Given the description of an element on the screen output the (x, y) to click on. 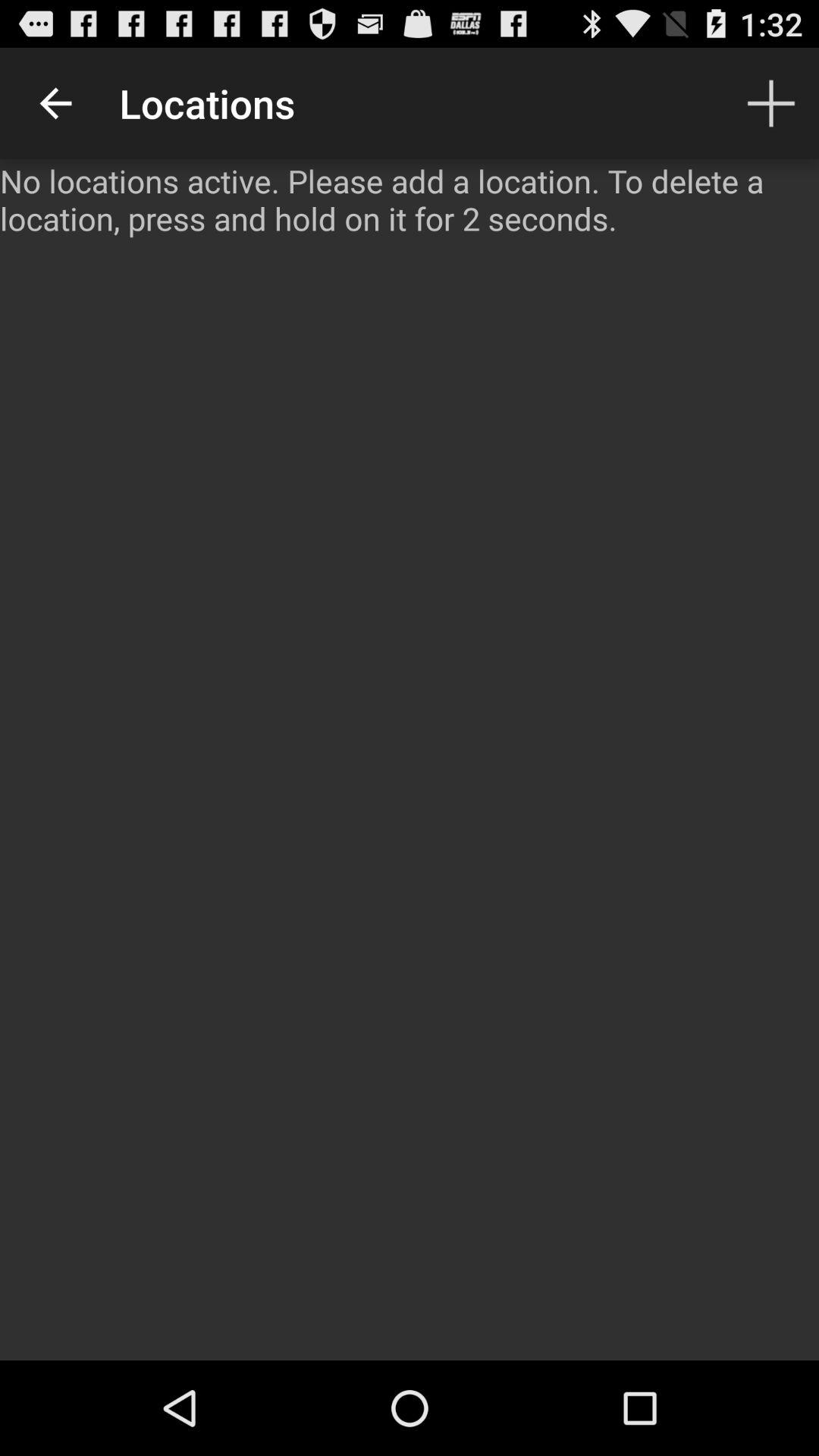
click item above the no locations active (55, 103)
